Given the description of an element on the screen output the (x, y) to click on. 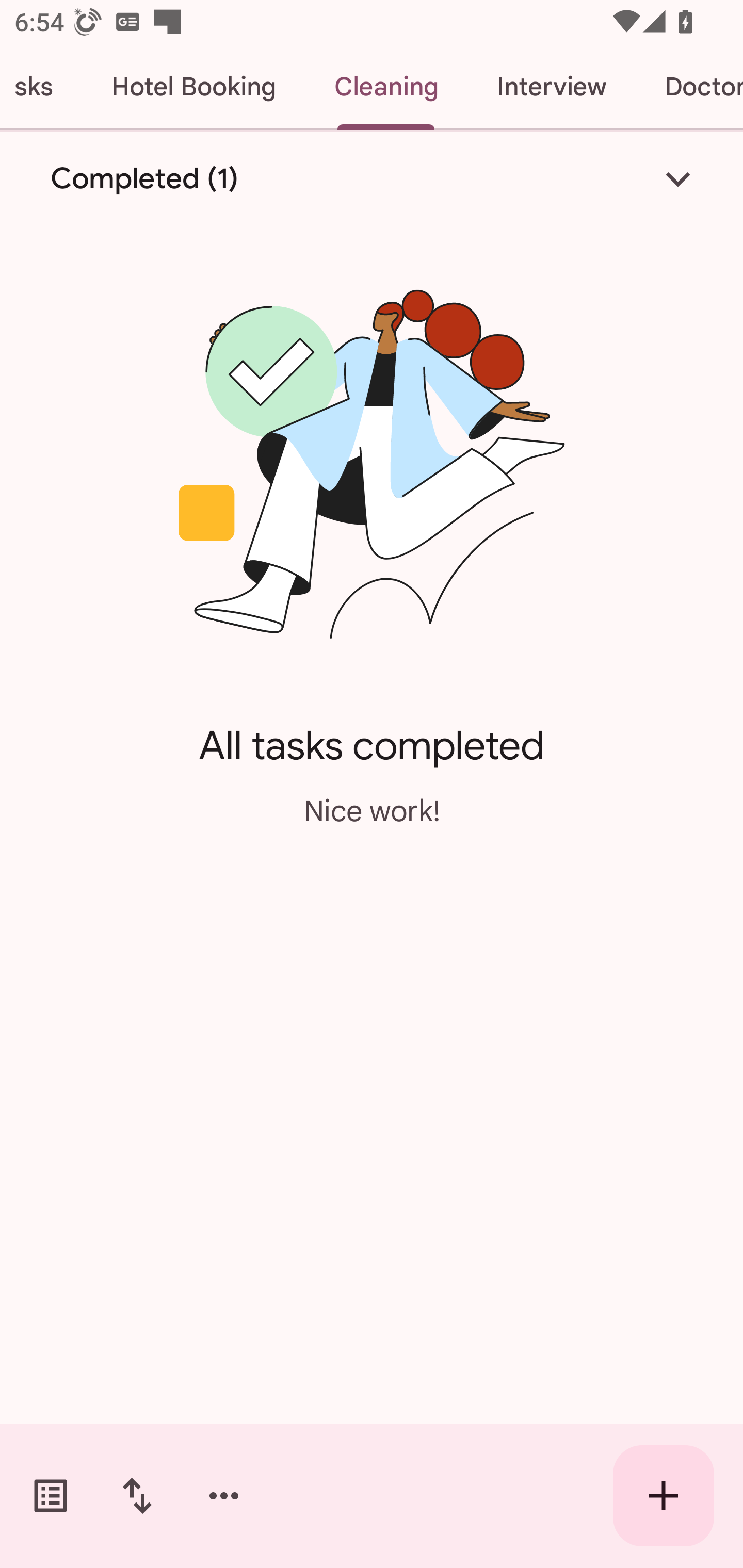
Hotel Booking (192, 86)
Interview (551, 86)
Doctor Appointment (689, 86)
Completed (1) (371, 178)
Switch task lists (50, 1495)
Create new task (663, 1495)
Change sort order (136, 1495)
More options (223, 1495)
